Given the description of an element on the screen output the (x, y) to click on. 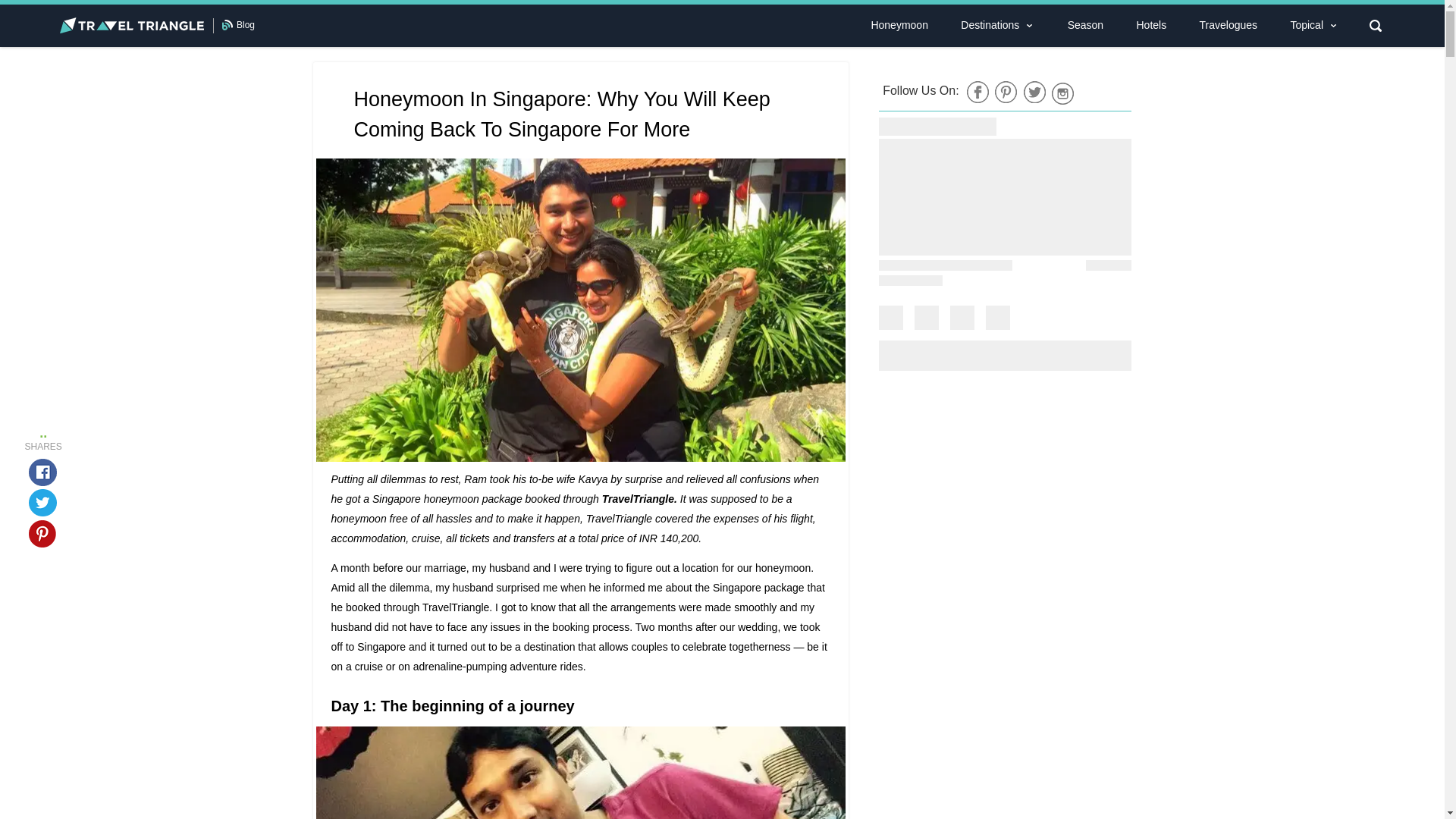
Blog (244, 24)
Topical (1306, 24)
Travelogues (1228, 24)
Honeymoon (899, 24)
Hotels (1150, 24)
Season (1085, 24)
Destinations (988, 24)
